Given the description of an element on the screen output the (x, y) to click on. 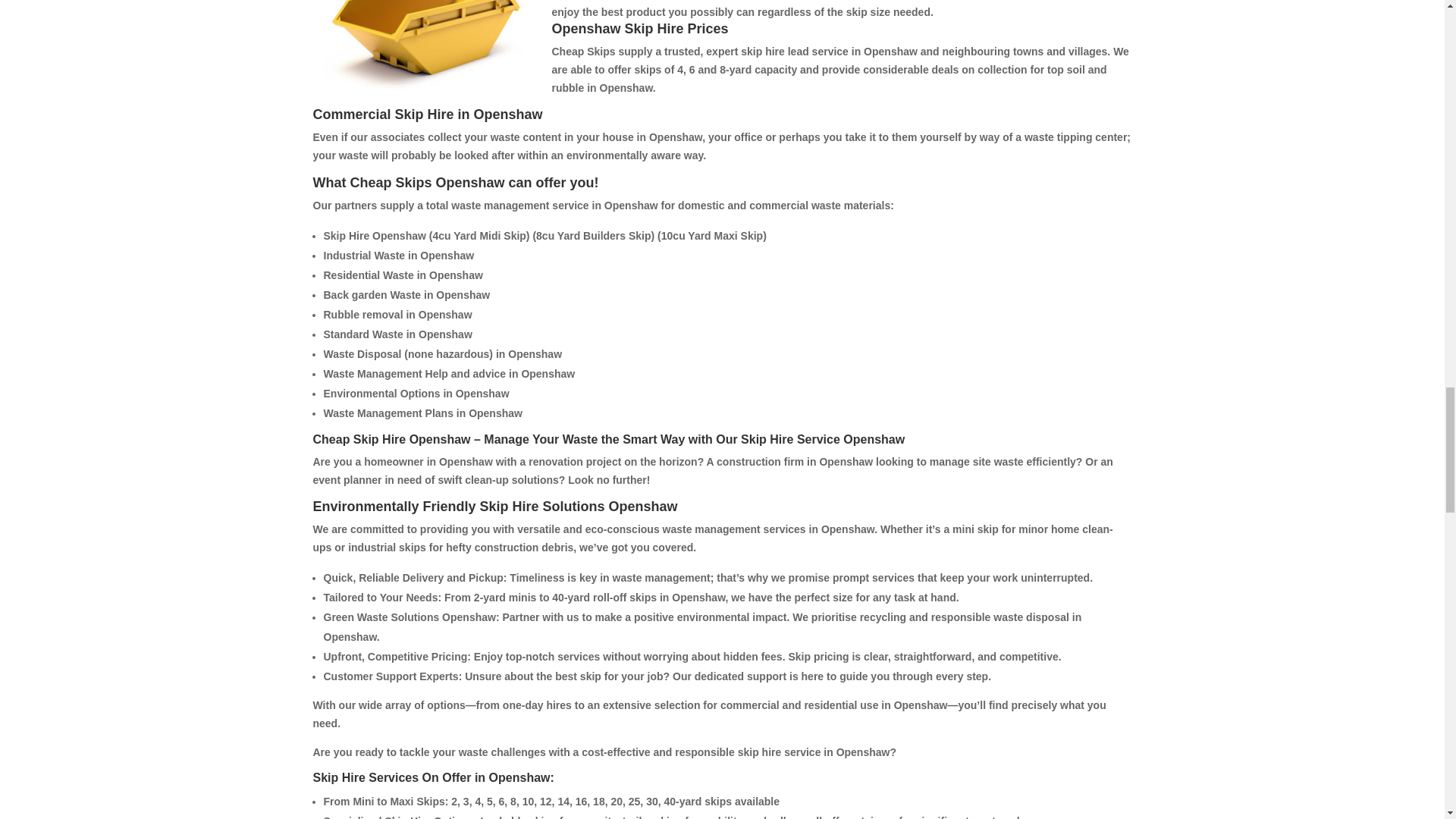
Cheap Skips in Openshaw (426, 52)
